Given the description of an element on the screen output the (x, y) to click on. 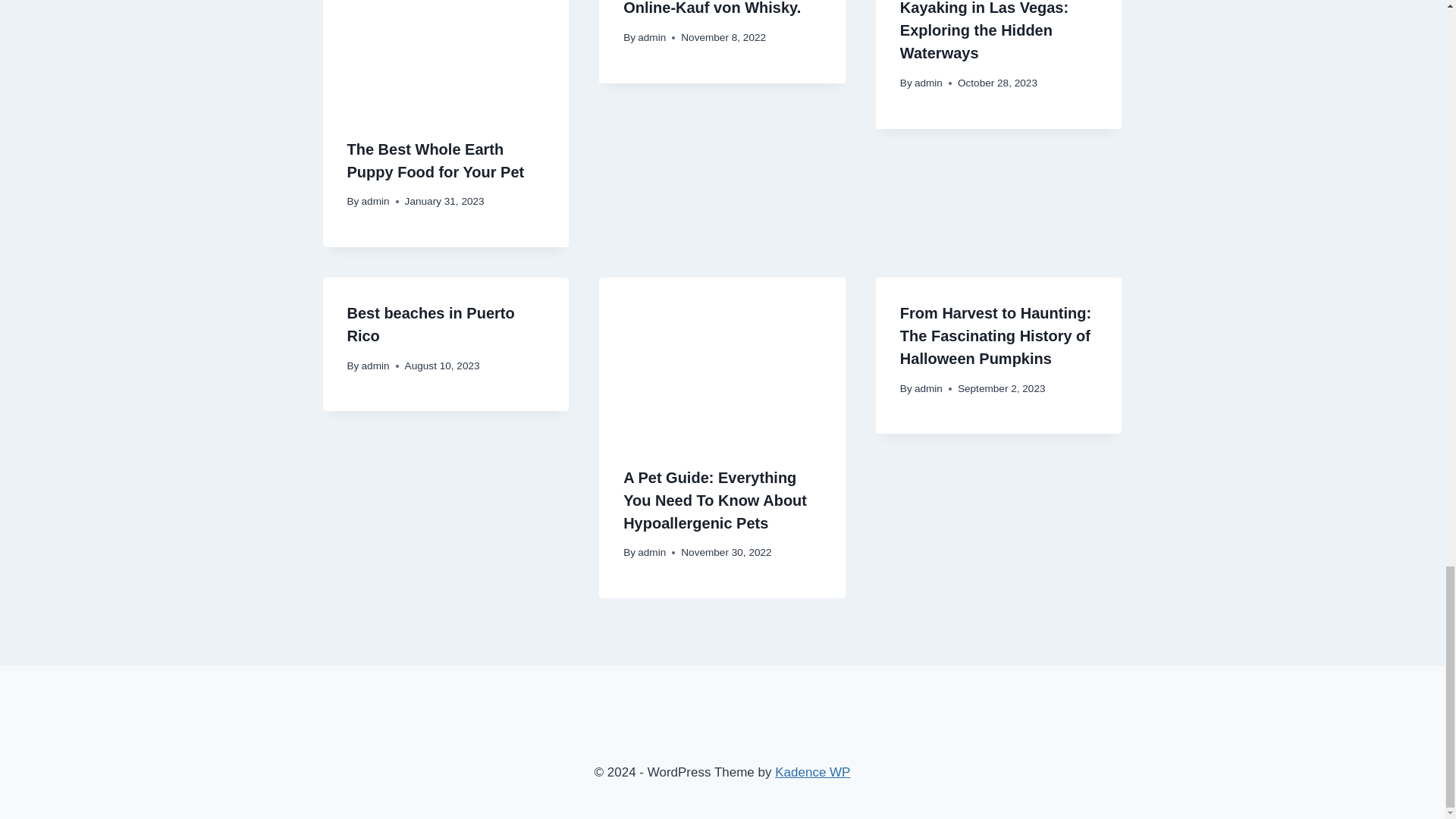
admin (928, 388)
Best beaches in Puerto Rico (431, 323)
The Best Whole Earth Puppy Food for Your Pet (435, 160)
admin (651, 552)
admin (375, 365)
Kadence WP (812, 771)
admin (651, 37)
